Given the description of an element on the screen output the (x, y) to click on. 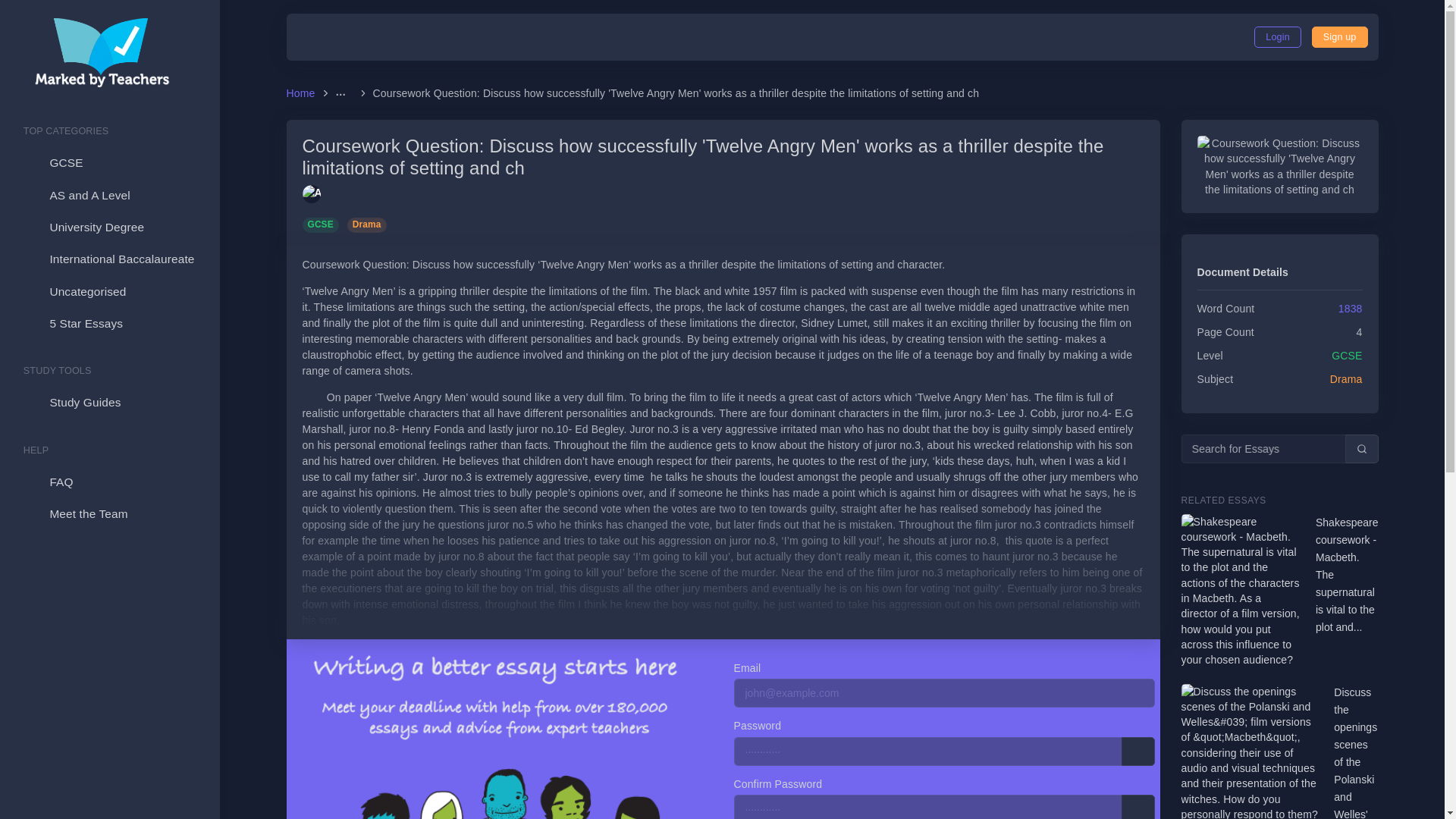
FAQ (109, 481)
International Baccalaureate (109, 259)
Home (302, 92)
Drama (367, 223)
GCSE (109, 163)
AS and A Level (109, 195)
Quick search (1361, 448)
GCSE (323, 223)
International Baccalaureate (109, 259)
Sign Up (1339, 36)
5 Star Essays (109, 323)
University Degree (109, 227)
Study Guides (109, 402)
Meet the Team (109, 513)
AS and A Level (109, 195)
